Given the description of an element on the screen output the (x, y) to click on. 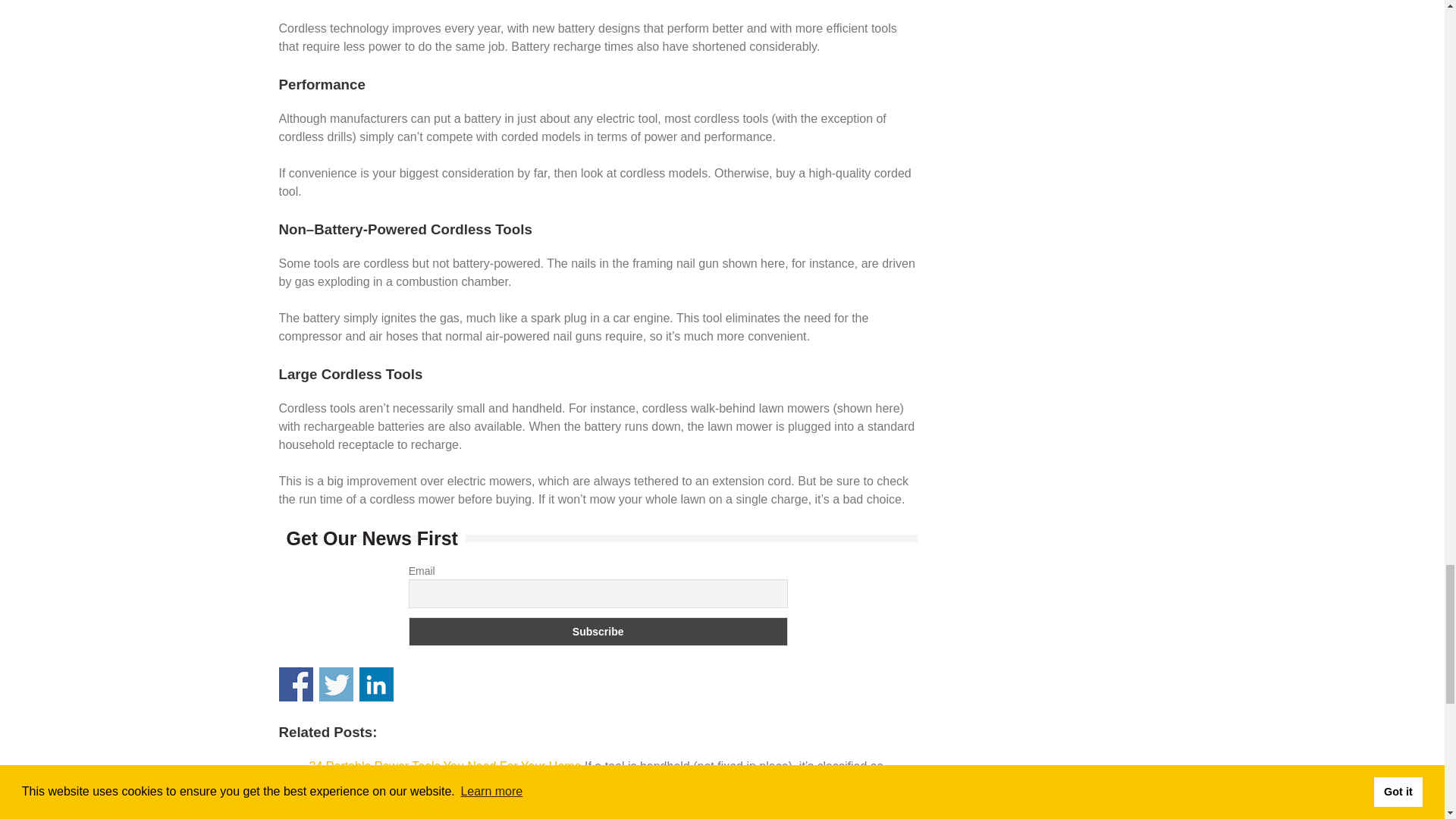
12 Most Used Stationary Power Tools List (421, 806)
Share on Facebook (296, 684)
Share on Twitter (335, 684)
Share on Linkedin (376, 684)
24 Portable Power Tools You Need For Your Home (444, 766)
Subscribe (598, 631)
Subscribe (598, 631)
